Given the description of an element on the screen output the (x, y) to click on. 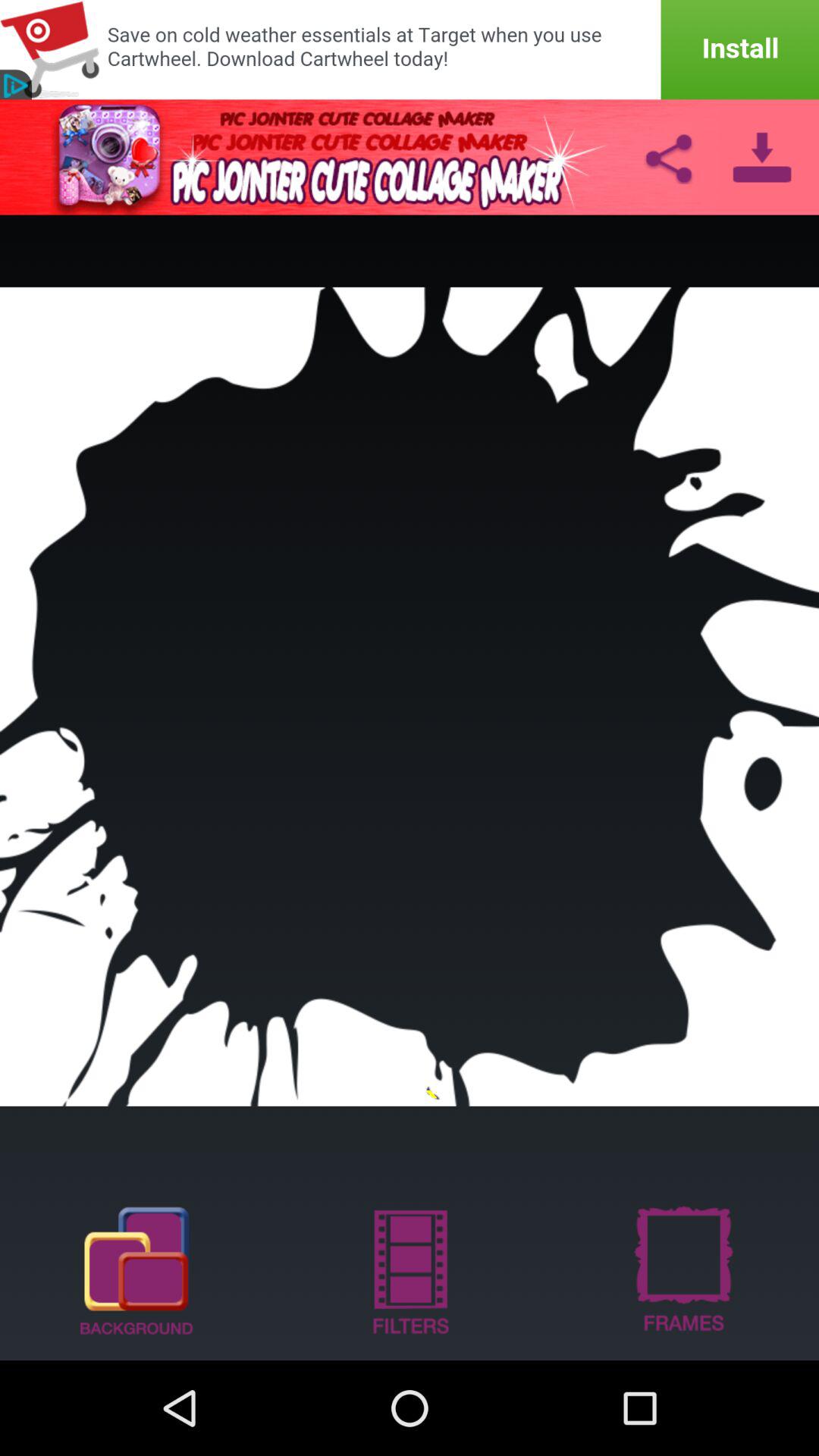
to add more images (136, 1269)
